Given the description of an element on the screen output the (x, y) to click on. 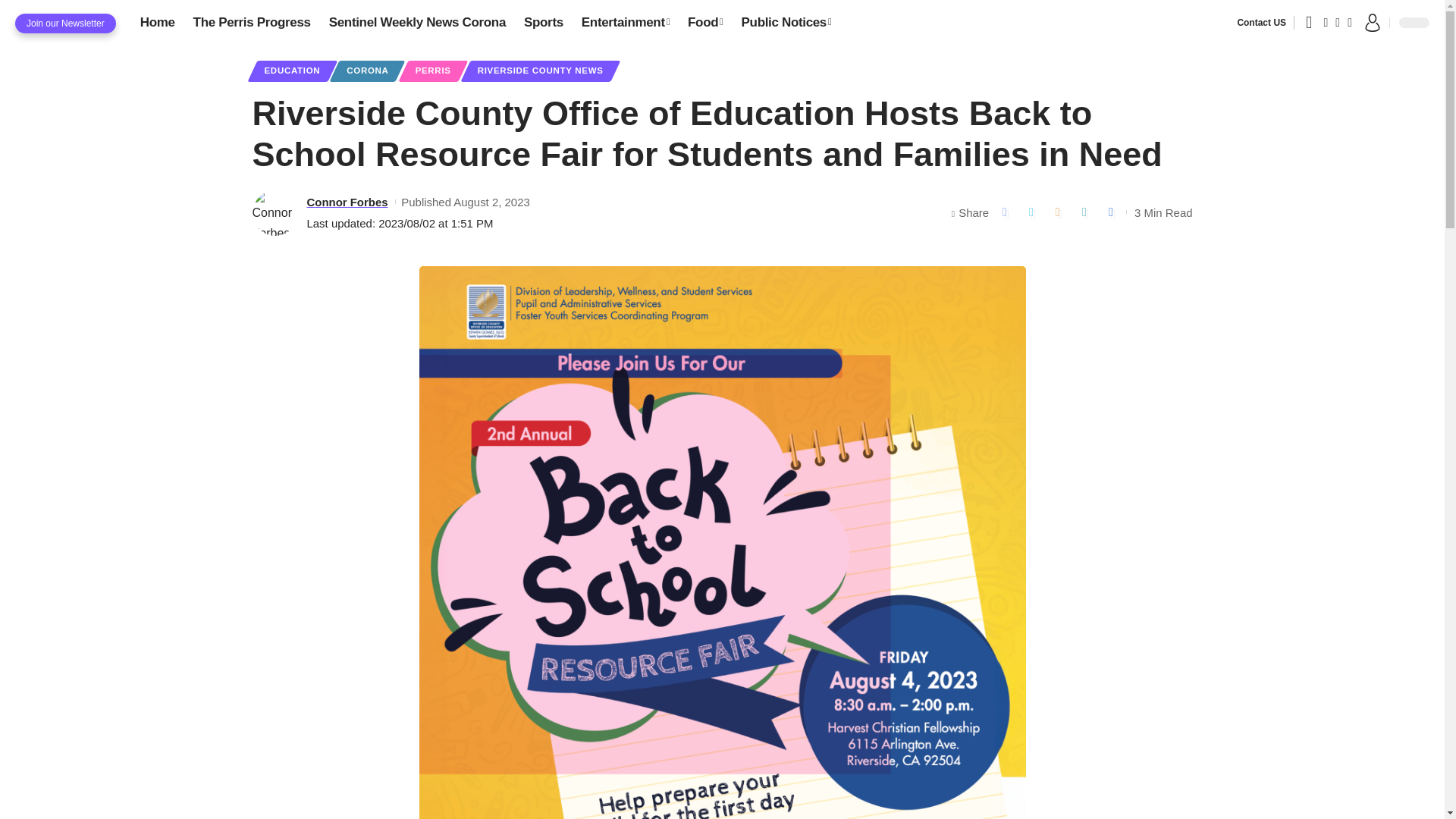
Entertainment (625, 22)
Join our Newsletter (65, 23)
Sports (543, 22)
Sentinel Weekly News Corona (417, 22)
Public Notices (786, 22)
Contact US (1260, 22)
Food (705, 22)
Home (157, 22)
The Perris Progress (252, 22)
